Given the description of an element on the screen output the (x, y) to click on. 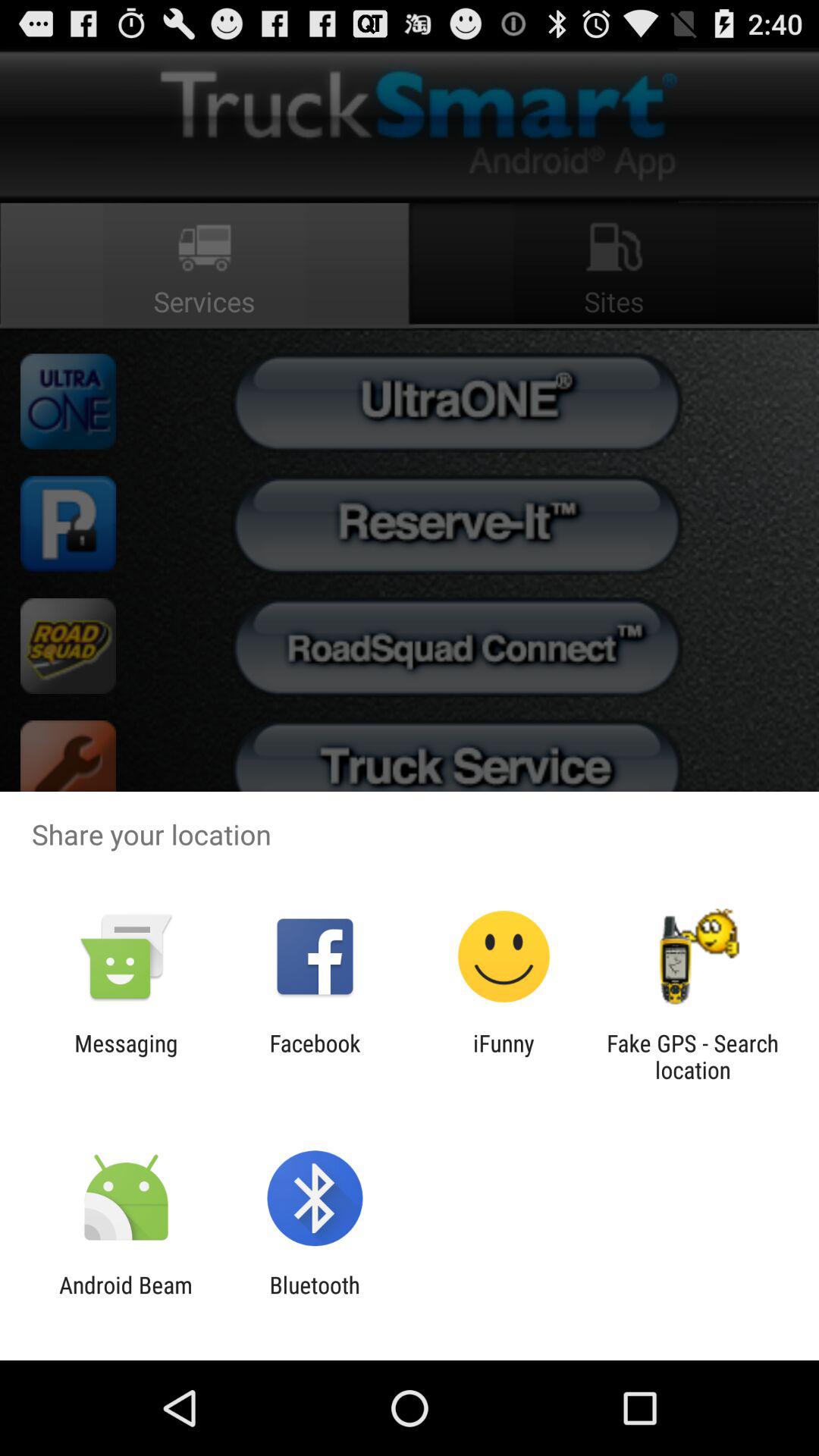
tap icon next to ifunny item (314, 1056)
